Given the description of an element on the screen output the (x, y) to click on. 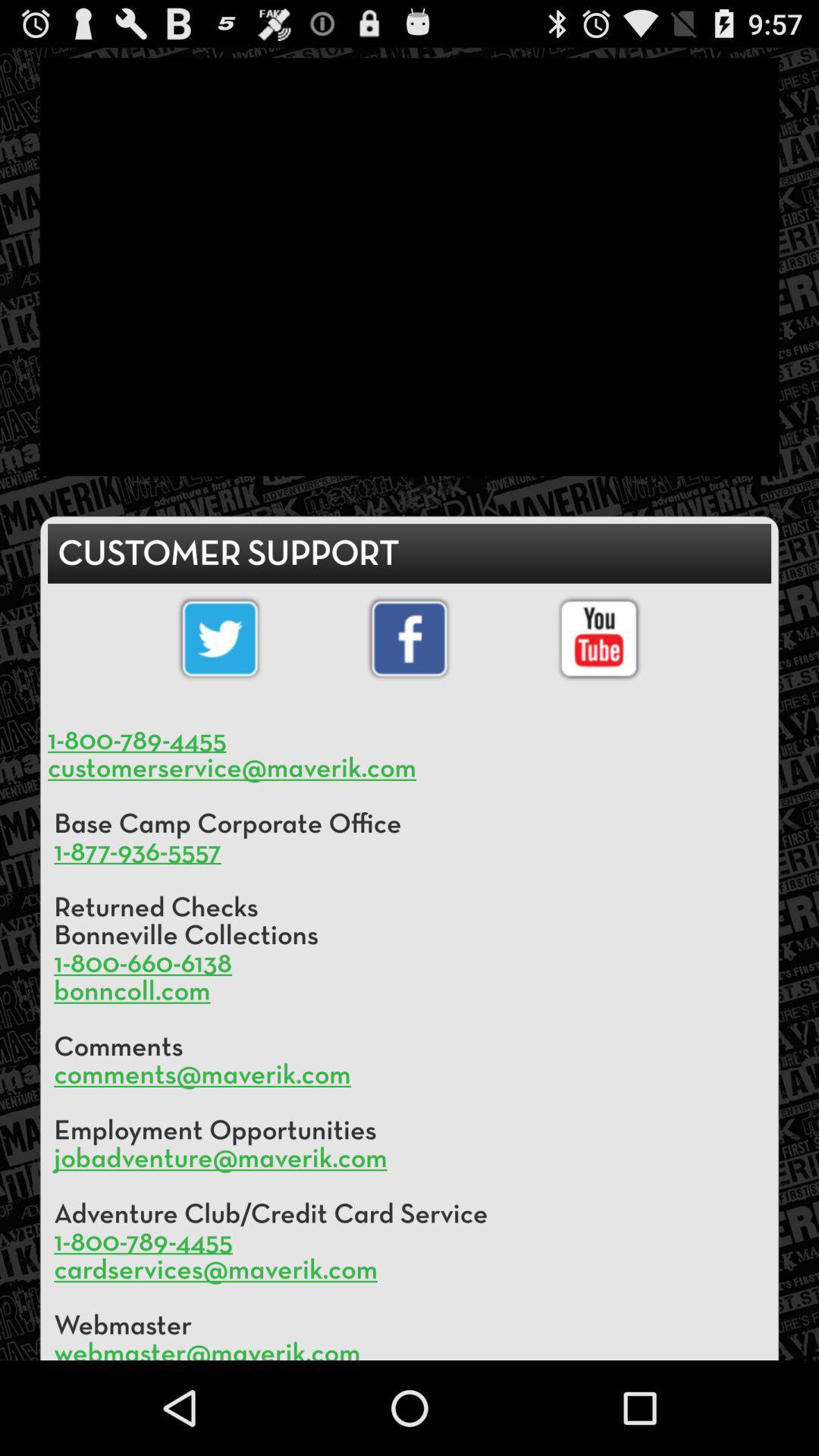
the symbol of twitter (220, 638)
